Given the description of an element on the screen output the (x, y) to click on. 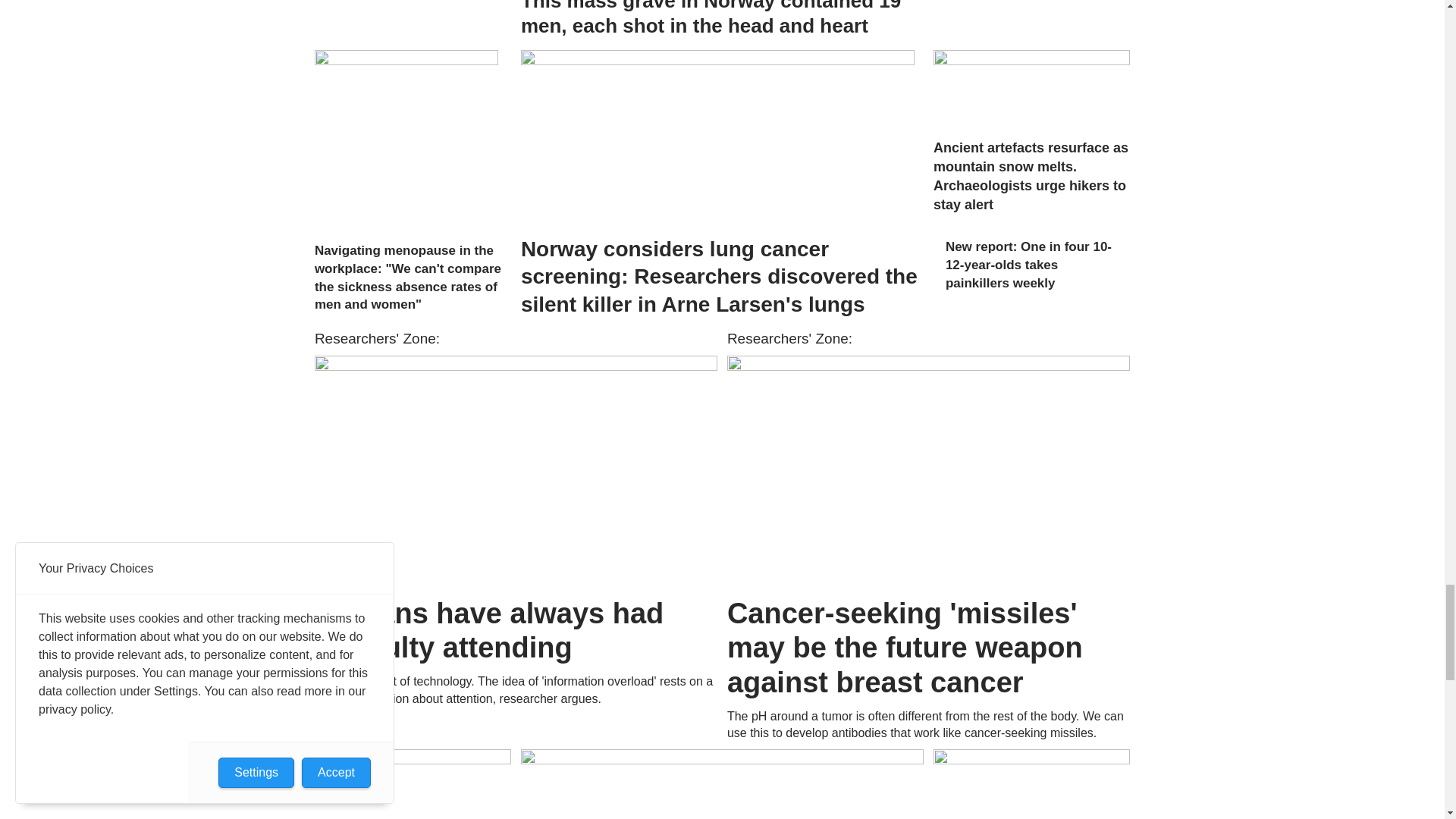
Humans have always had difficulty attending (515, 470)
